Given the description of an element on the screen output the (x, y) to click on. 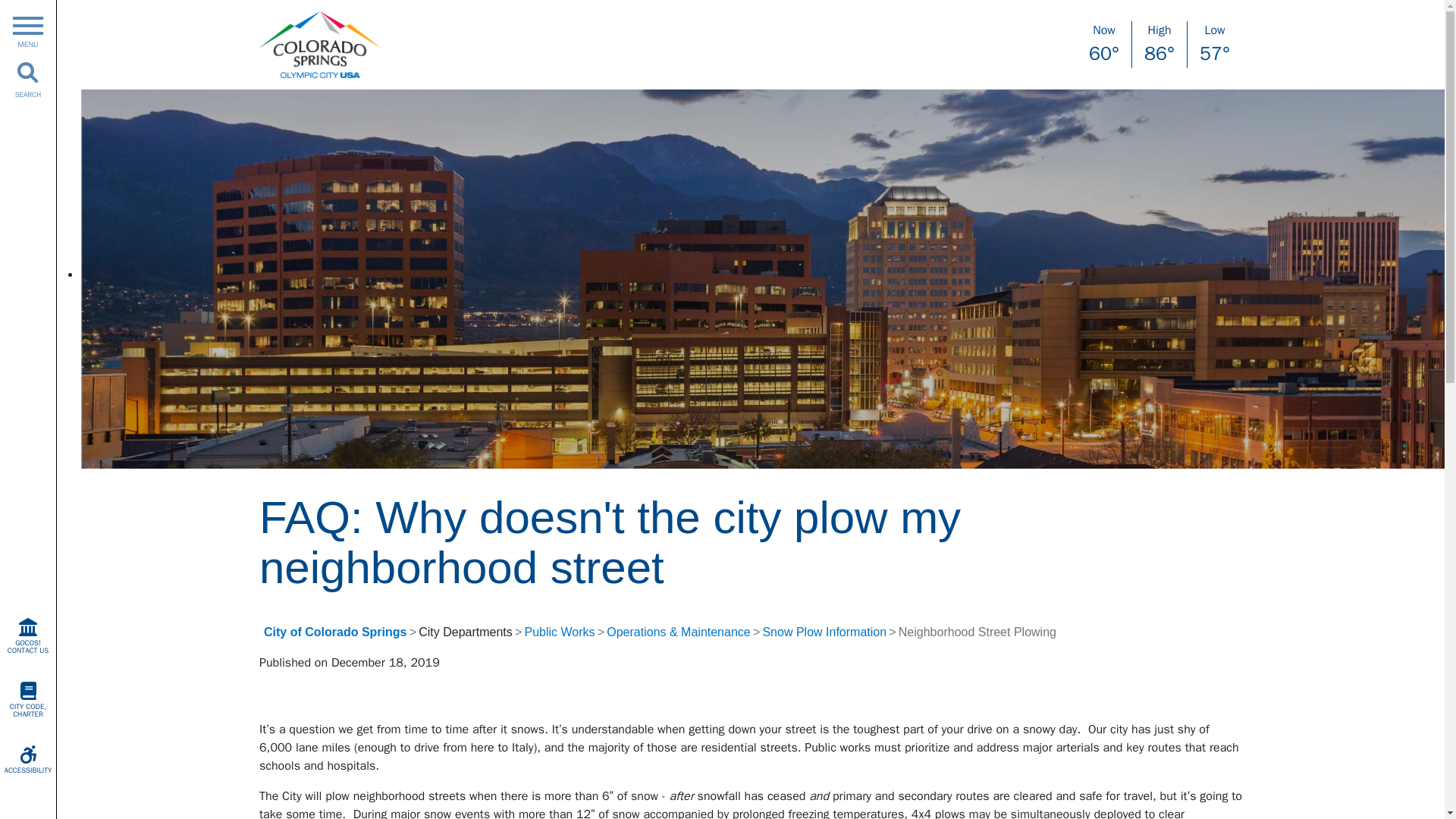
Snow Plow Information (823, 631)
GOCOS! CONTACT US (28, 635)
City of Colorado Springs (334, 631)
MENU (28, 29)
Public Works (559, 631)
ACCESSIBILITY (28, 760)
SEARCH (28, 78)
CITY CODE, CHARTER (28, 699)
